Given the description of an element on the screen output the (x, y) to click on. 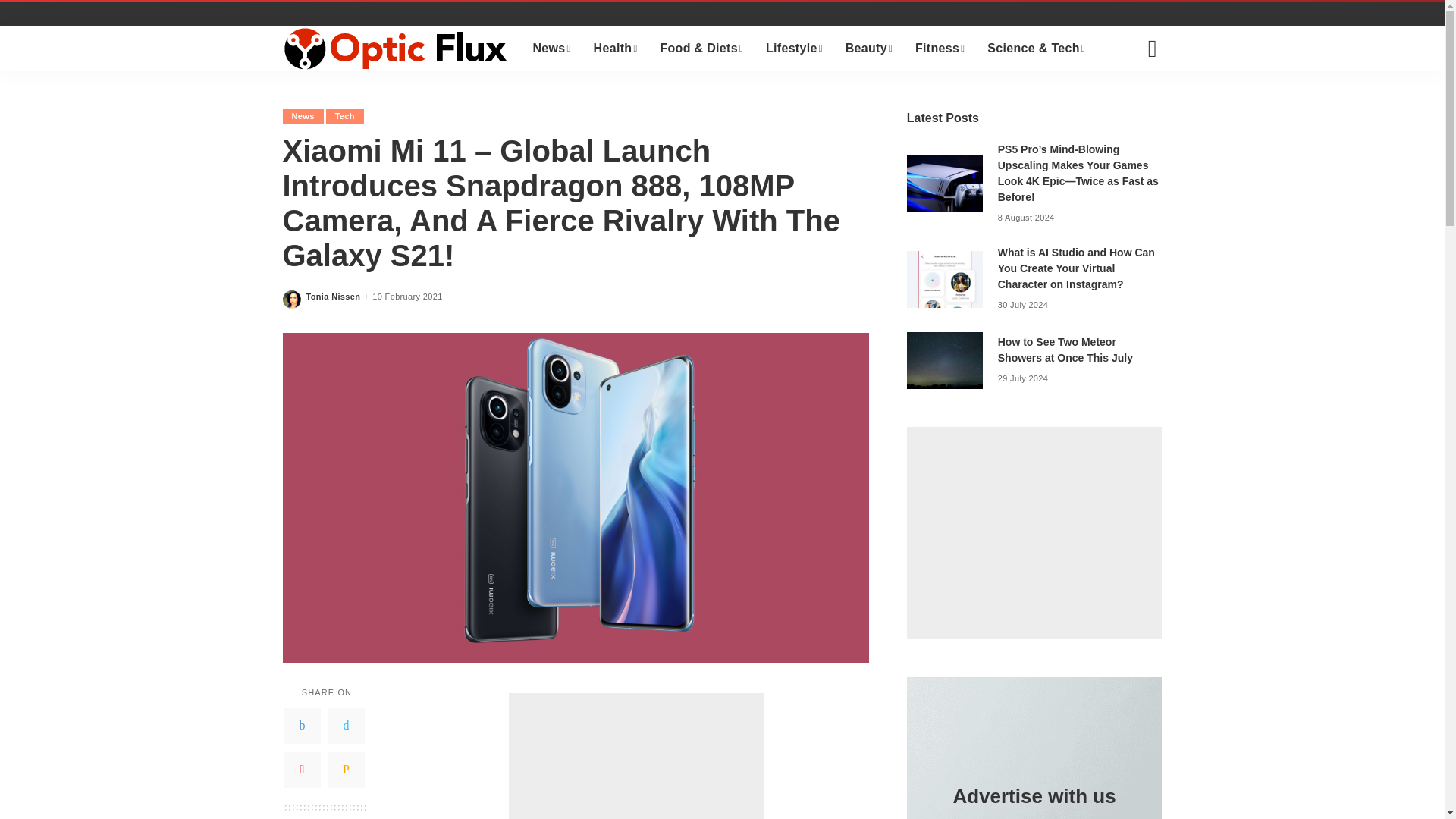
Optic Flux (395, 48)
Twitter (345, 725)
Facebook (301, 725)
